Given the description of an element on the screen output the (x, y) to click on. 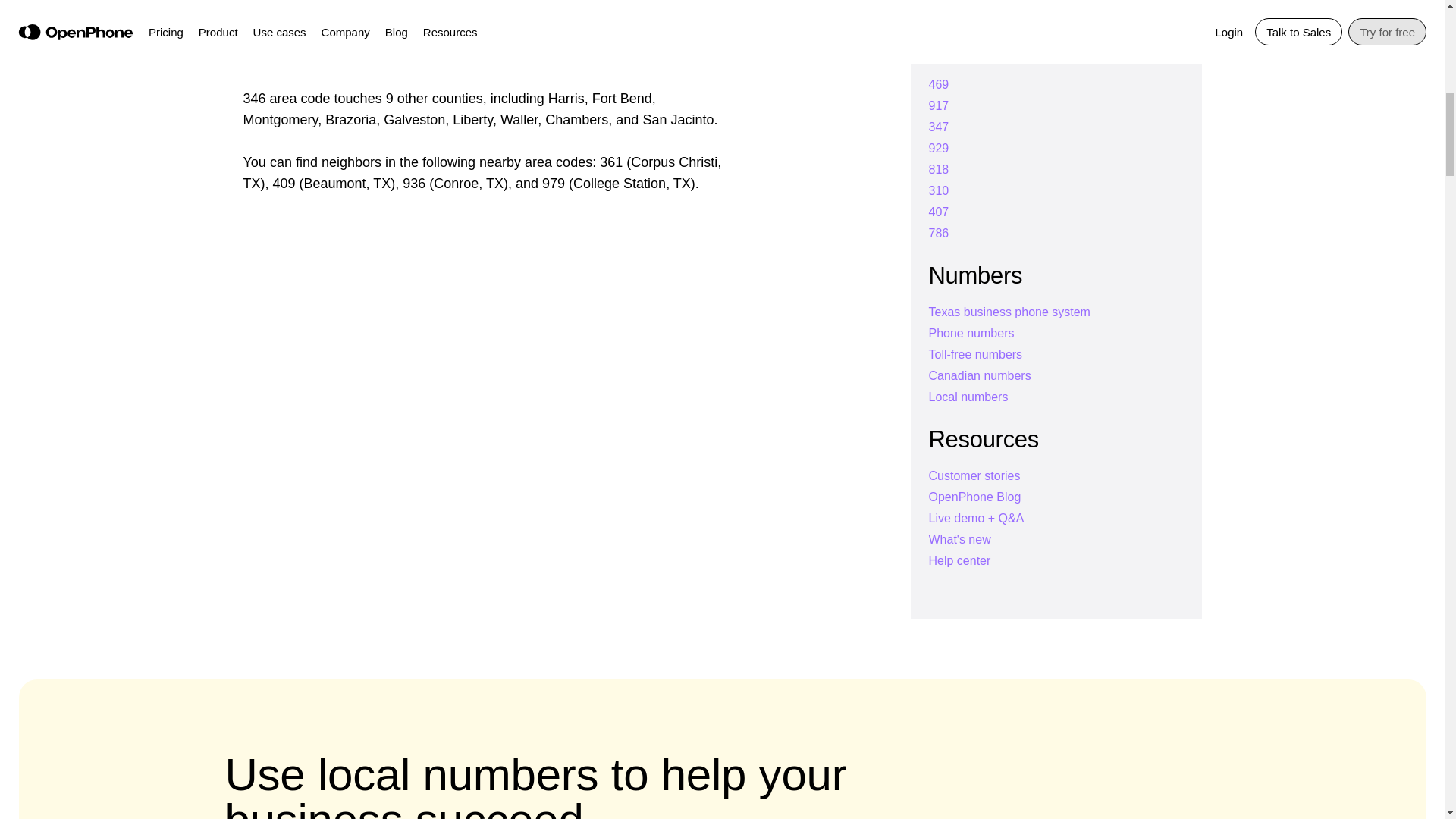
What's new (959, 539)
818 (938, 169)
OpenPhone Blog (974, 496)
Customer stories (974, 475)
Help center (959, 560)
917 (938, 105)
Texas business phone system (1008, 311)
Local numbers (967, 396)
786 (938, 232)
Phone numbers (970, 332)
Toll-free numbers (975, 354)
407 (938, 211)
469 (938, 83)
Canadian numbers (979, 375)
347 (938, 126)
